Given the description of an element on the screen output the (x, y) to click on. 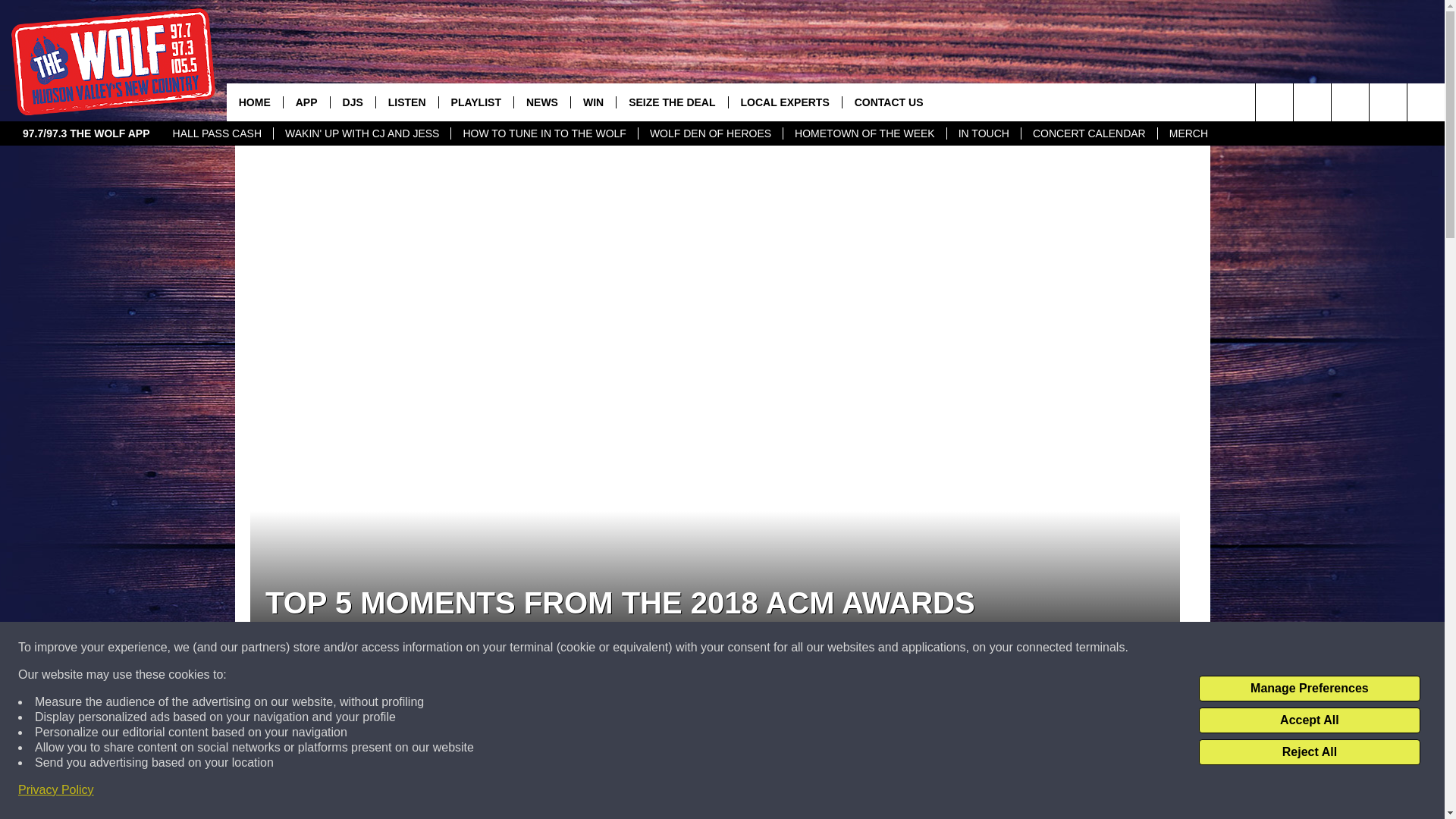
Share on Facebook (517, 724)
WAKIN' UP WITH CJ AND JESS (361, 133)
HOMETOWN OF THE WEEK (864, 133)
Privacy Policy (55, 789)
Accept All (1309, 720)
WOLF DEN OF HEROES (710, 133)
MERCH (1188, 133)
Manage Preferences (1309, 688)
Reject All (1309, 751)
Share on Twitter (912, 724)
LISTEN (406, 102)
HOW TO TUNE IN TO THE WOLF (543, 133)
DJS (352, 102)
PLAYLIST (475, 102)
NEWS (541, 102)
